Given the description of an element on the screen output the (x, y) to click on. 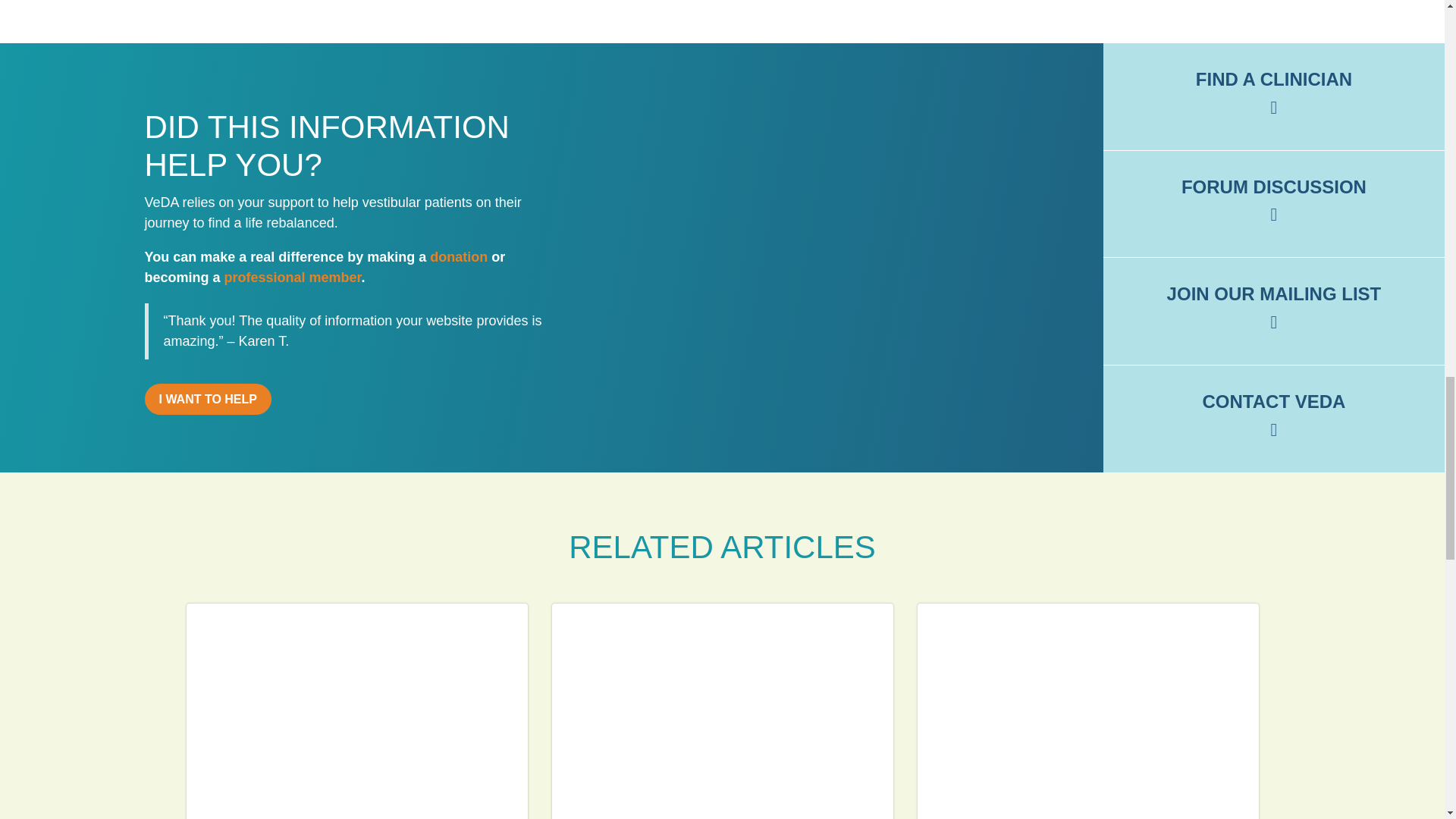
professional member (292, 277)
I Want to Help (207, 399)
donation (458, 256)
Read more about Vision Challenges with Vestibular Disorders (722, 711)
